Given the description of an element on the screen output the (x, y) to click on. 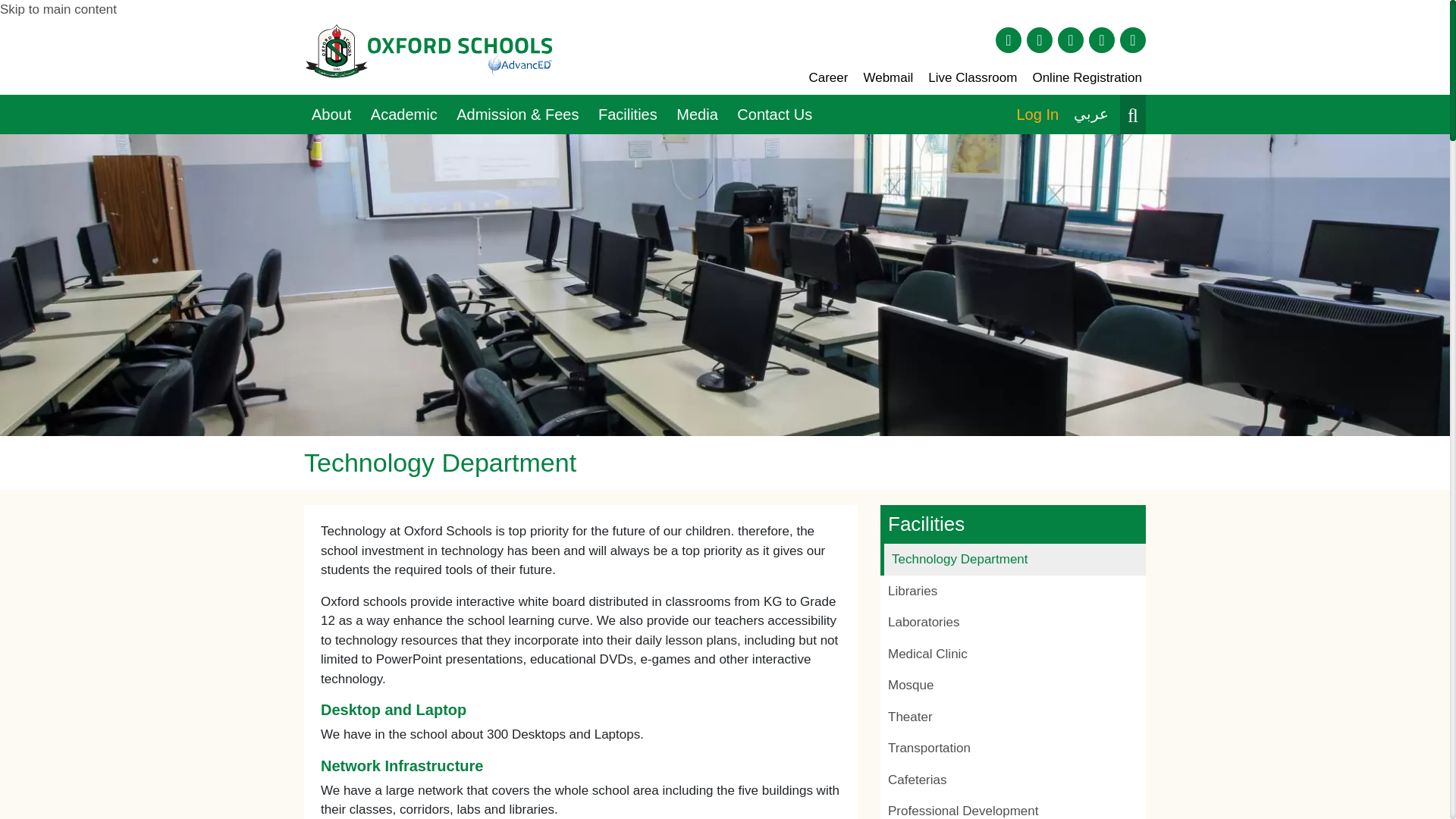
Instagram (1039, 40)
Facebook (1008, 40)
linked in (1070, 40)
Youtube (1132, 40)
Home (430, 57)
About (333, 114)
Webmail (887, 77)
twitter (1102, 40)
Career (827, 77)
Skip to main content (58, 9)
